Given the description of an element on the screen output the (x, y) to click on. 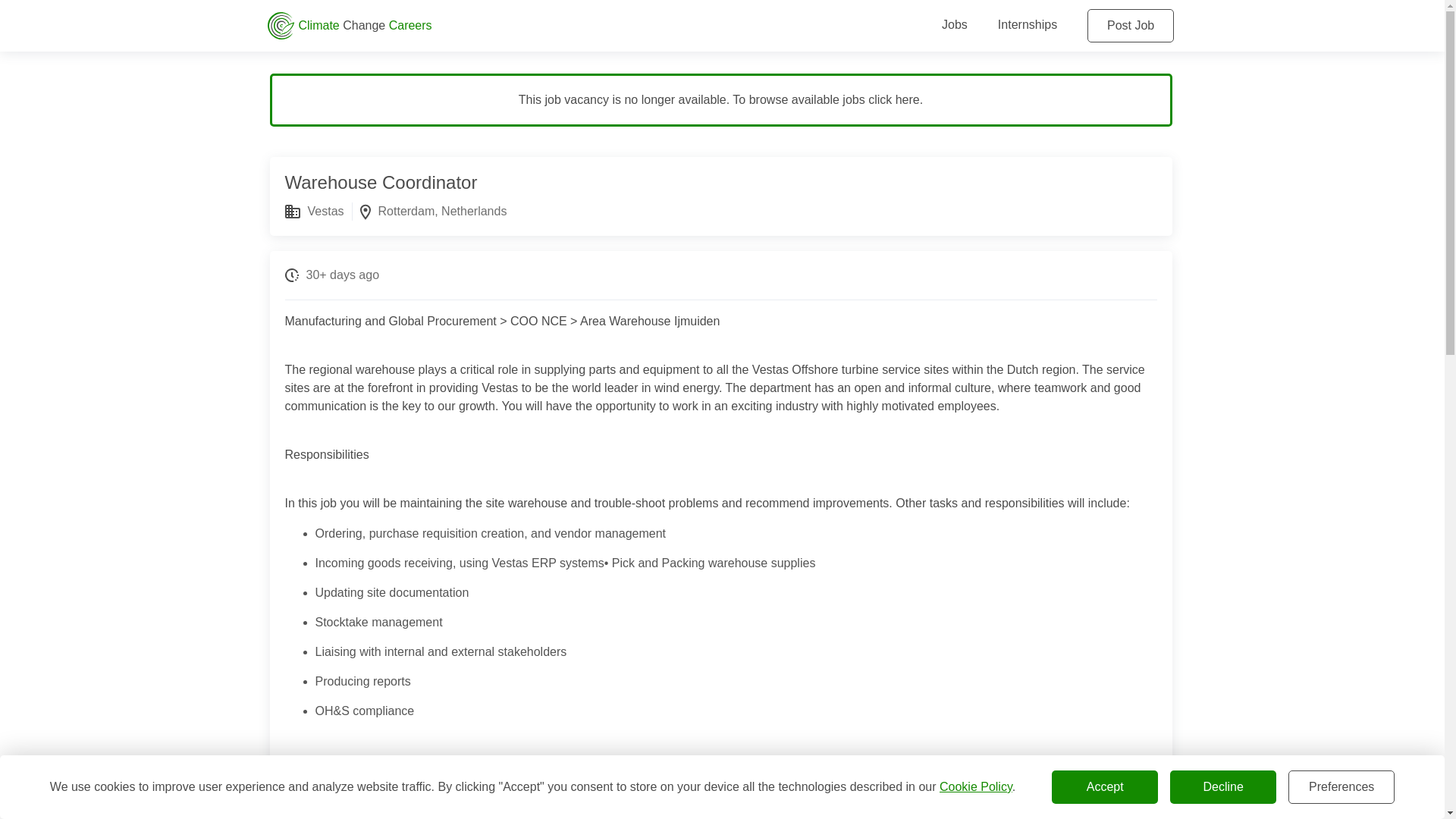
Rotterdam, Netherlands (442, 210)
Decline (1223, 786)
Post Job (1130, 25)
Climate Change Careers (569, 25)
click here. (895, 99)
Accept (1104, 786)
Vestas (325, 210)
Cookie Policy (975, 786)
Jobs (955, 24)
Preferences (1341, 786)
